Given the description of an element on the screen output the (x, y) to click on. 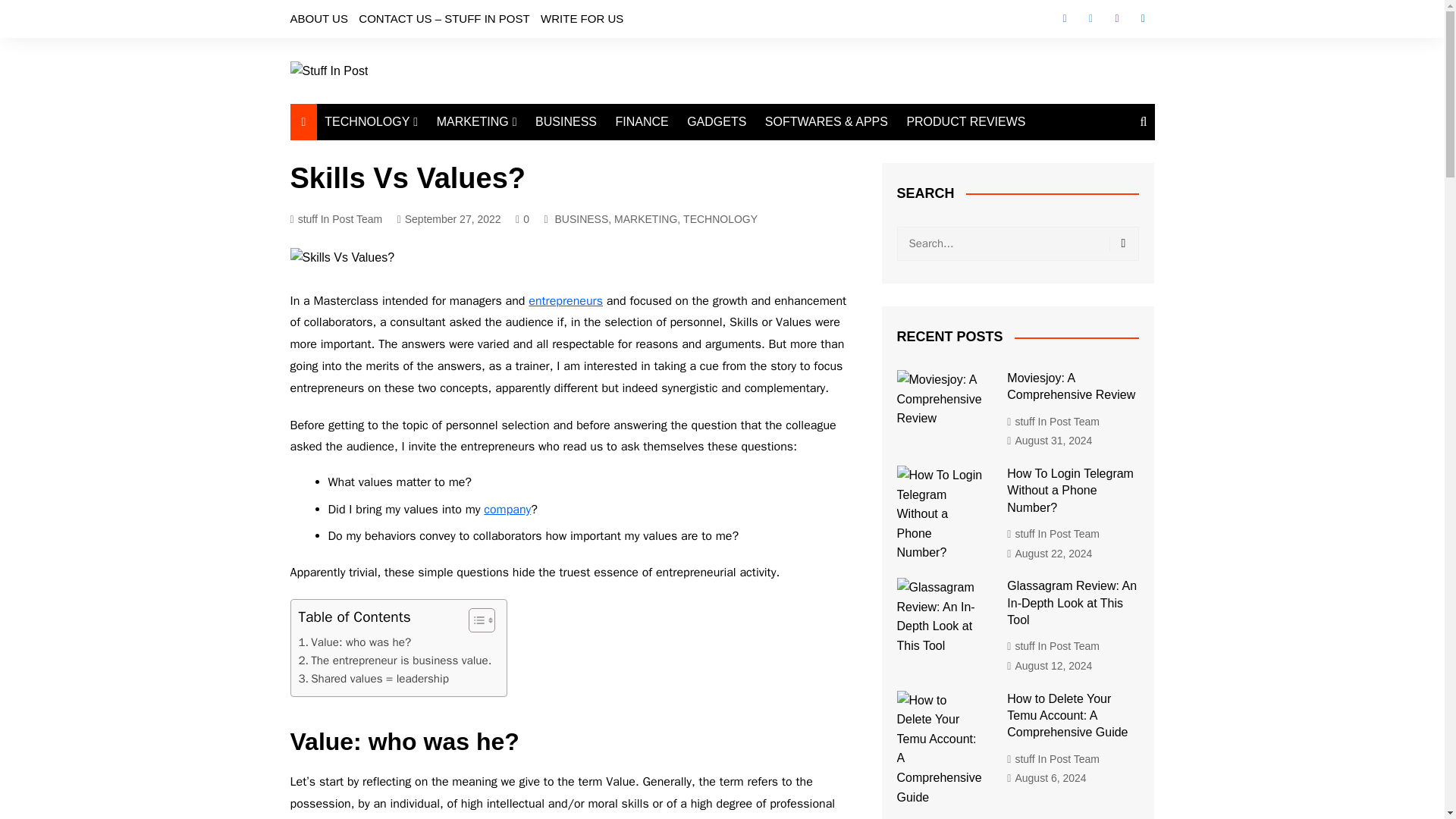
entrepreneurs (565, 300)
The entrepreneur is business value. (395, 660)
DIGITAL MARKETING (512, 152)
TECHNOLOGY (371, 122)
INTERNET OF THINGS (400, 215)
ARTIFICIAL INTELLIGENCE (400, 159)
5G TECHNOLOGY (400, 240)
MARKETING (476, 122)
Twitter (1091, 18)
BUSINESS (565, 122)
